Given the description of an element on the screen output the (x, y) to click on. 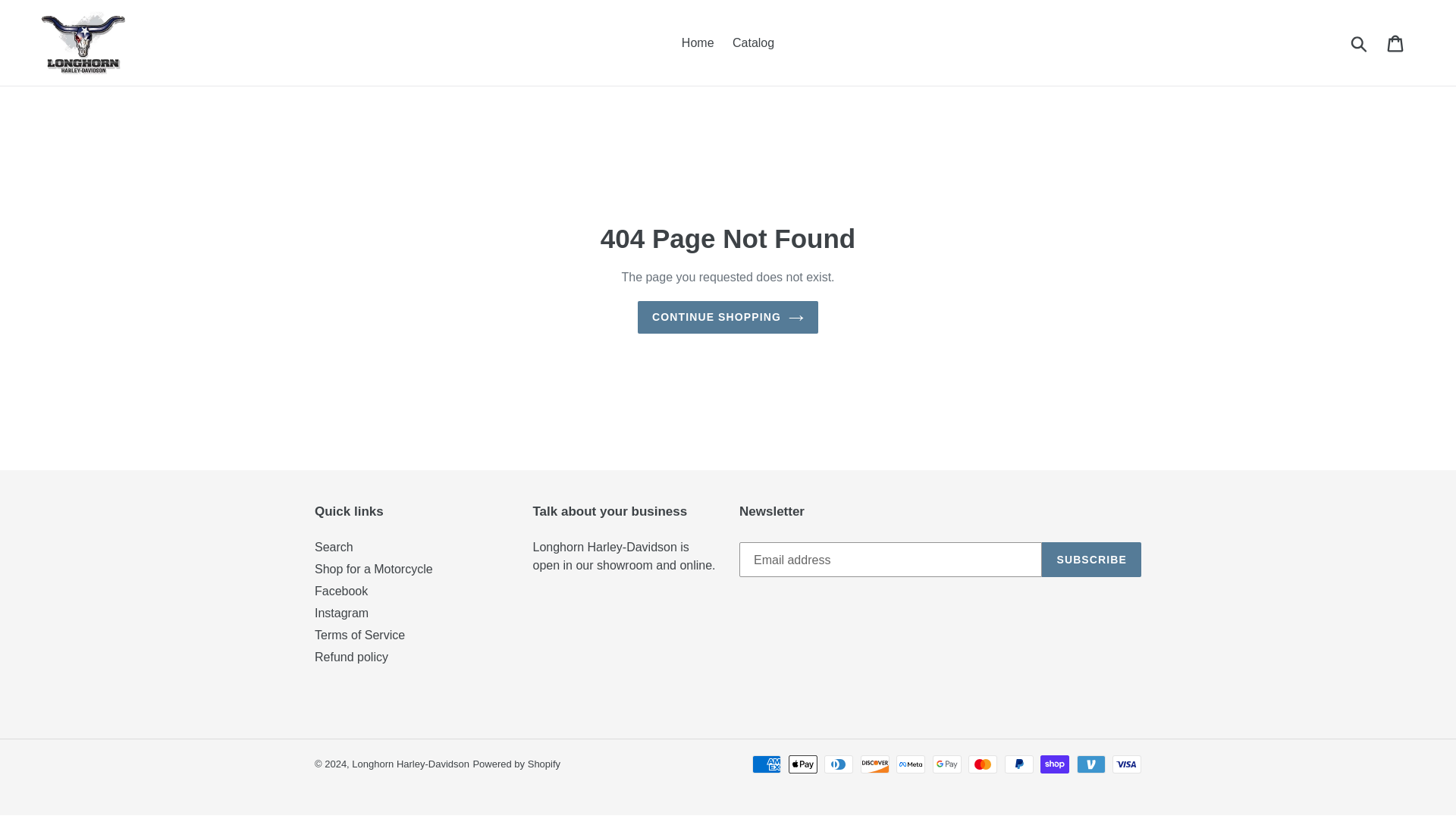
Cart (1395, 41)
Search (333, 546)
Shop for a Motorcycle (373, 568)
CONTINUE SHOPPING (727, 317)
Refund policy (351, 656)
Instagram (341, 612)
SUBSCRIBE (1091, 559)
Powered by Shopify (515, 763)
Submit (1359, 41)
Facebook (341, 590)
